Given the description of an element on the screen output the (x, y) to click on. 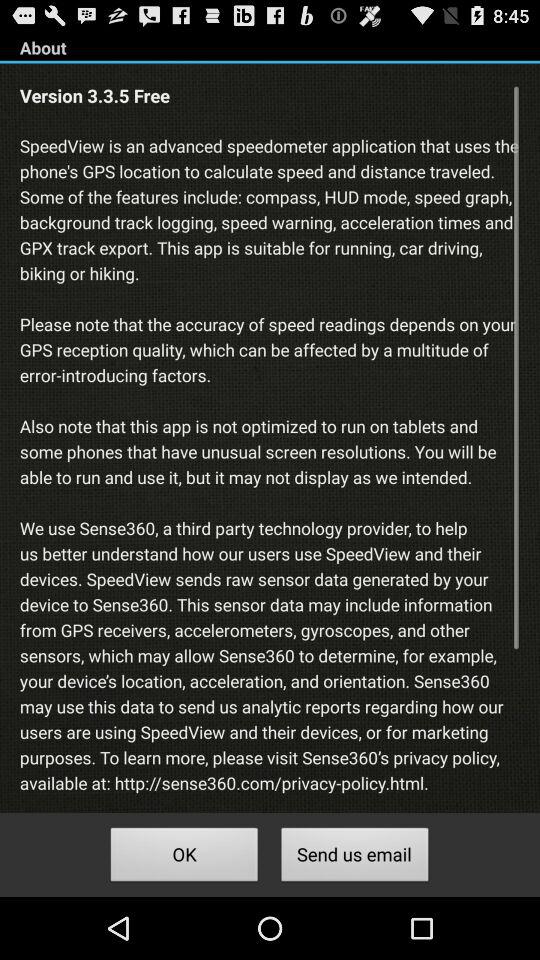
tap the item to the left of the send us email button (184, 857)
